Given the description of an element on the screen output the (x, y) to click on. 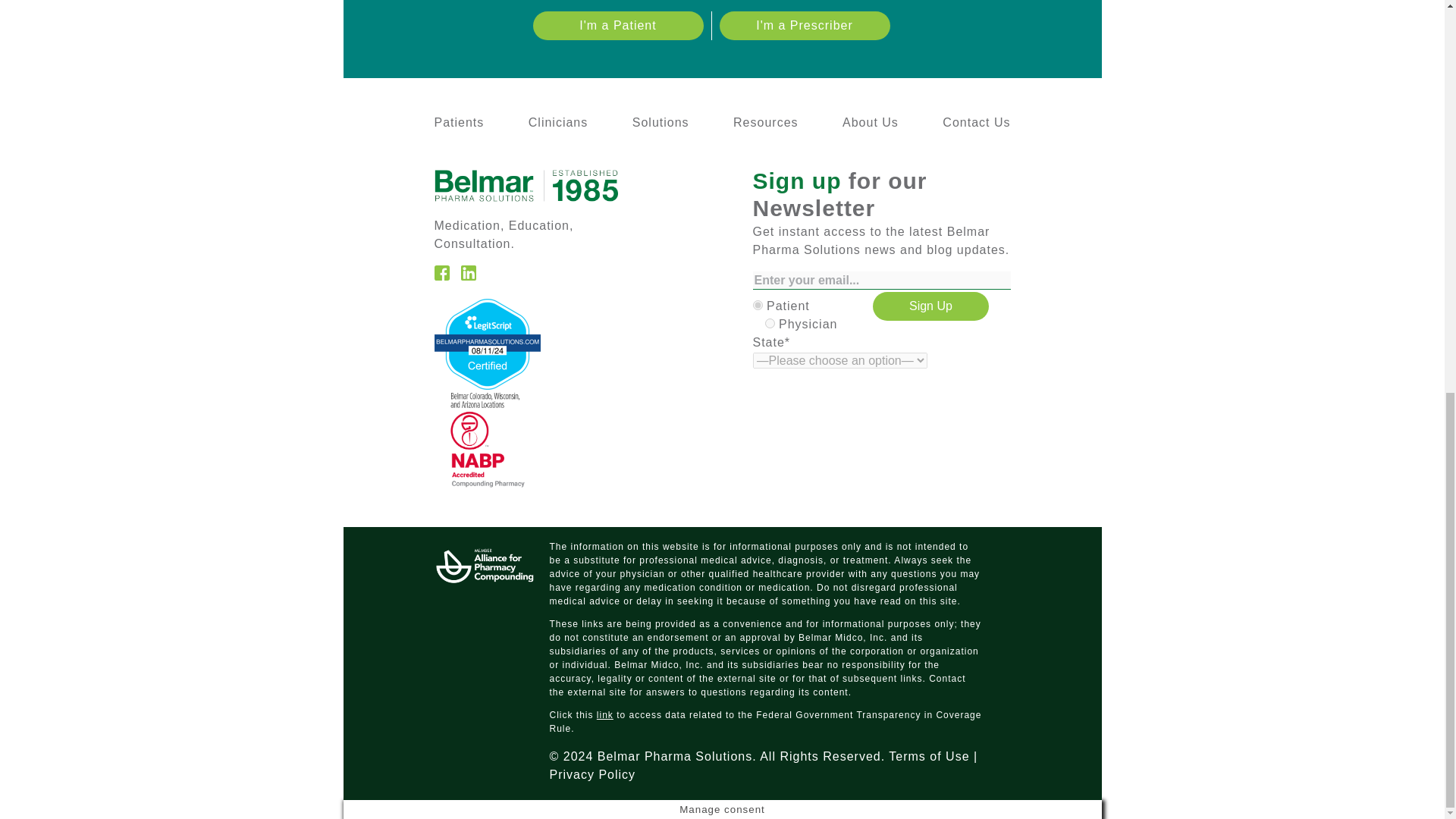
Patient (756, 305)
Sign Up (930, 306)
Verify LegitScript Approval (486, 385)
Compounding Pharmacy (478, 482)
Physician (769, 323)
